Given the description of an element on the screen output the (x, y) to click on. 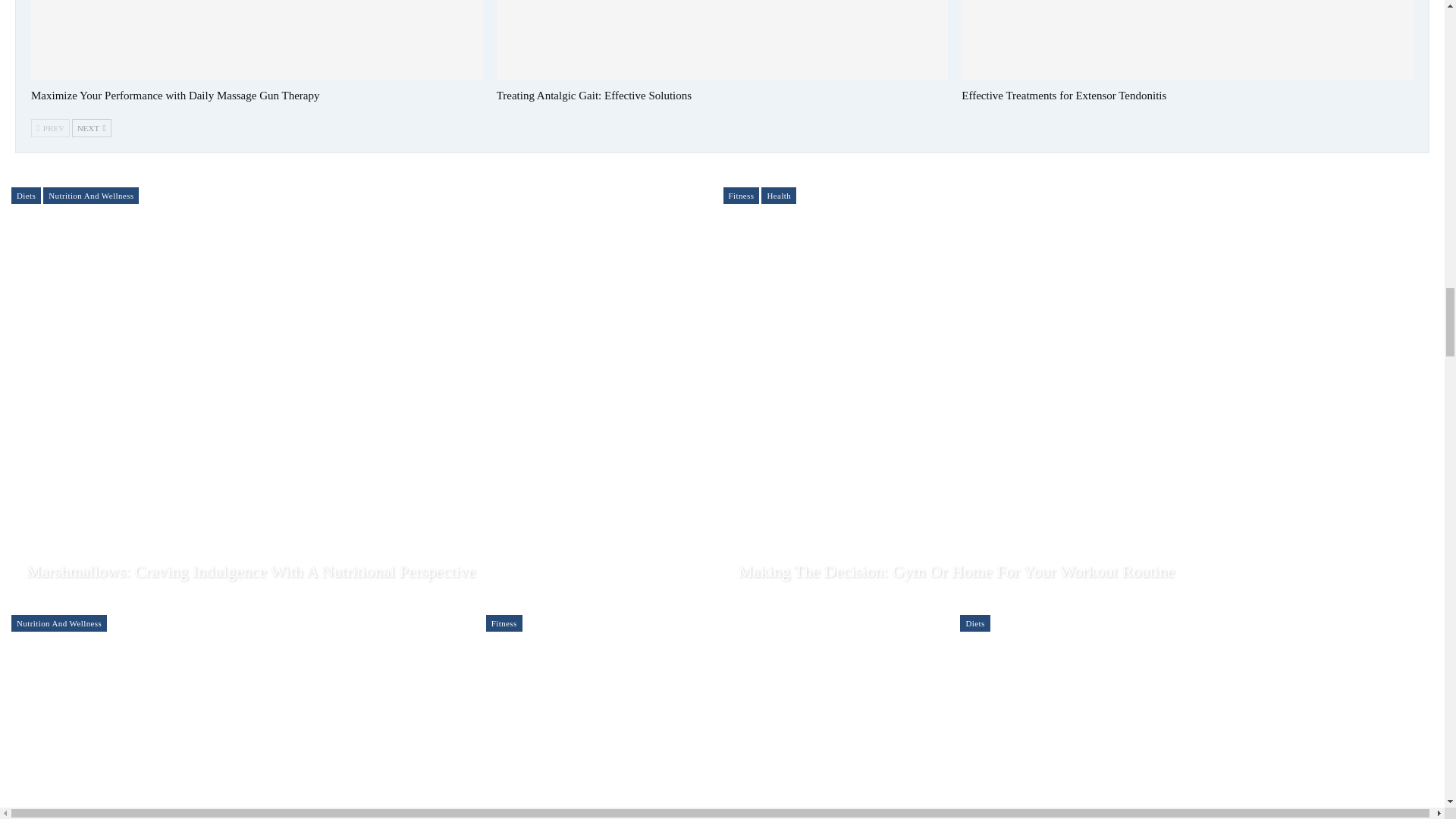
Browse Author Articles (63, 593)
Maximize Your Performance with Daily Massage Gun Therapy (174, 95)
Effective Treatments for Extensor Tendonitis (1063, 95)
Browse Author Articles (775, 593)
Effective Treatments for Extensor Tendonitis (1186, 40)
Previous (49, 127)
Next (91, 127)
Treating Antalgic Gait: Effective Solutions (722, 40)
Maximize Your Performance with Daily Massage Gun Therapy (256, 40)
Treating Antalgic Gait: Effective Solutions (593, 95)
